Given the description of an element on the screen output the (x, y) to click on. 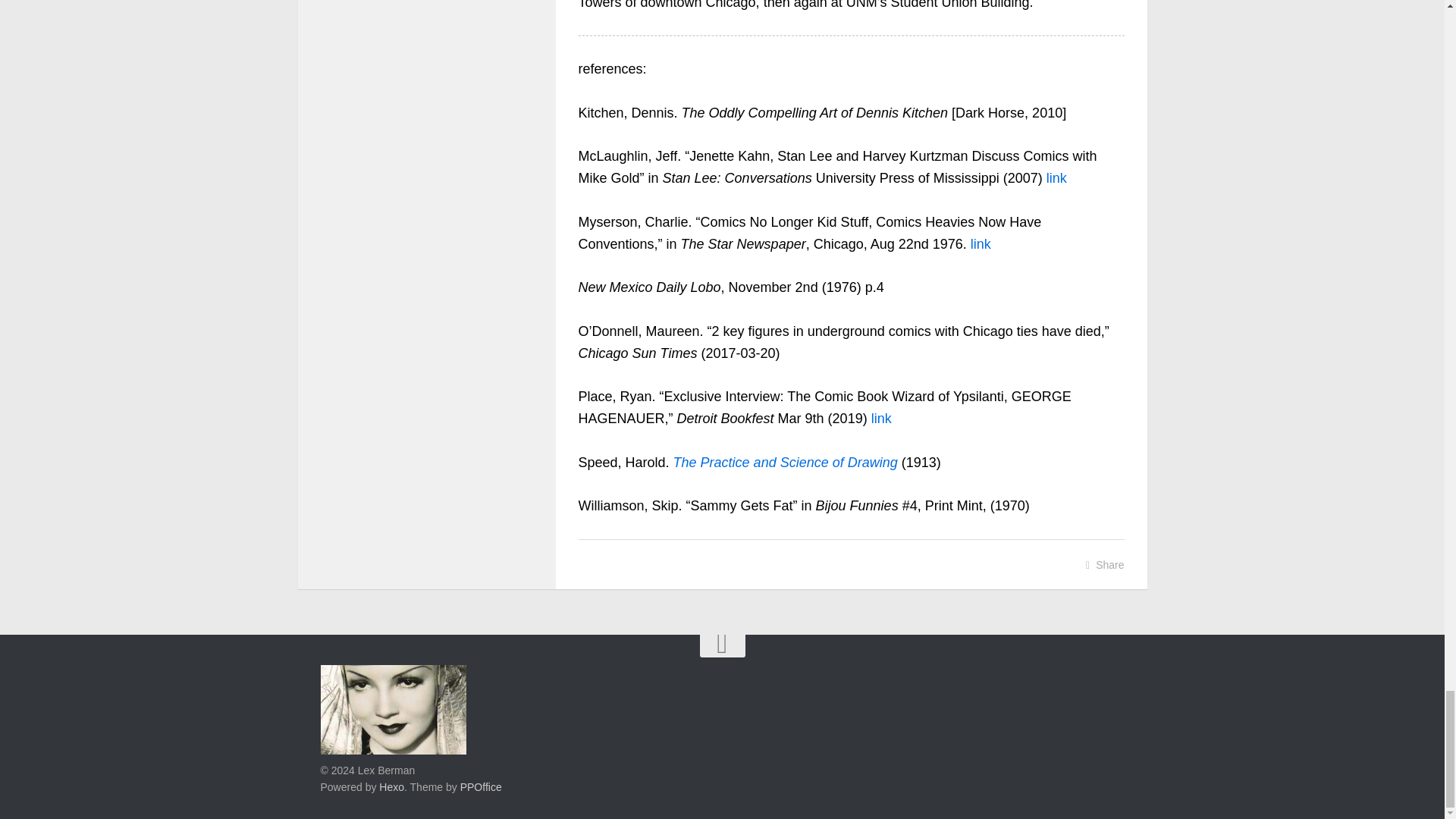
link (880, 418)
The Practice and Science of Drawing (785, 462)
link (1056, 177)
Share (1105, 564)
link (981, 243)
